Given the description of an element on the screen output the (x, y) to click on. 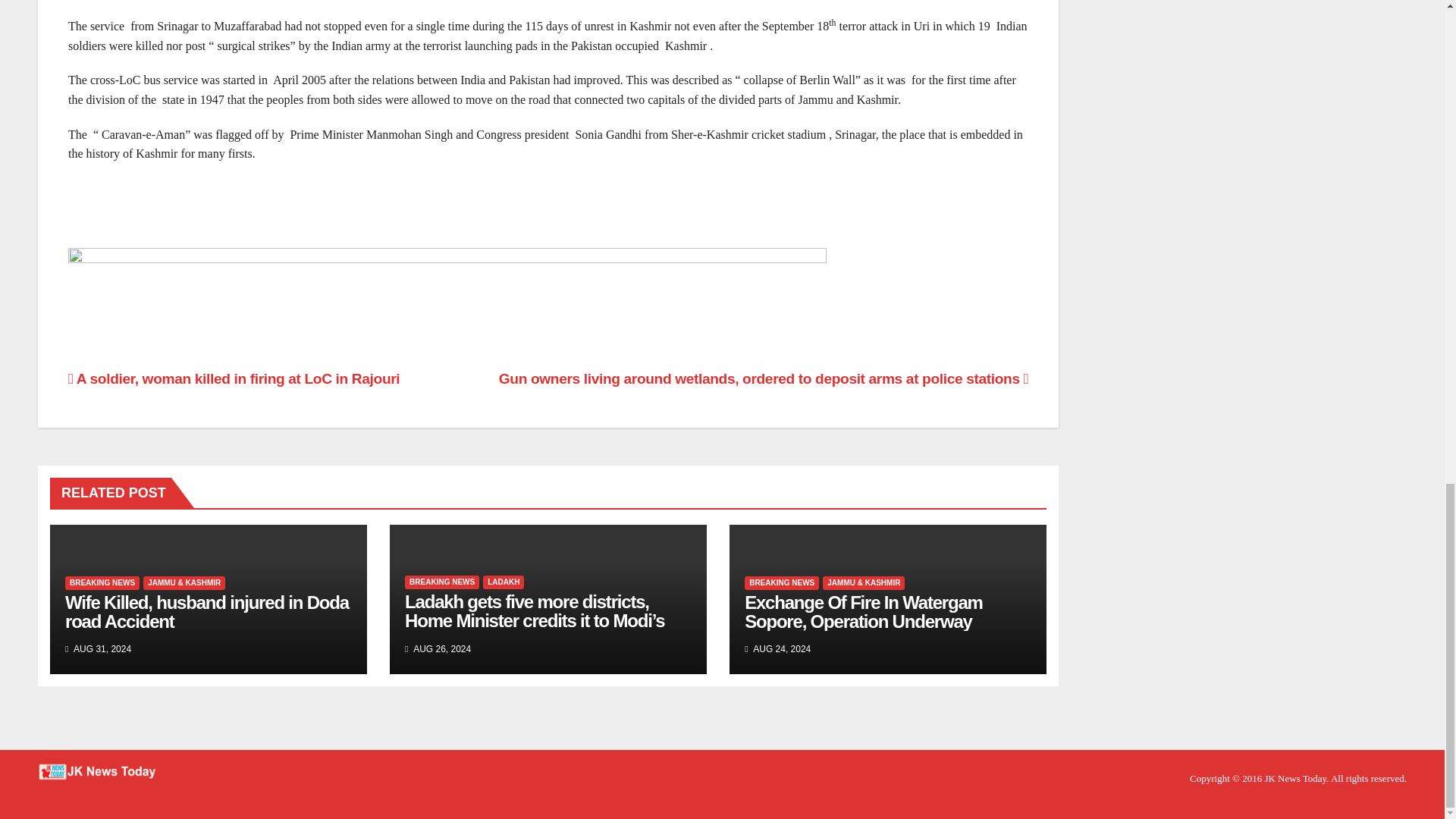
JKNews Today (1294, 778)
